Given the description of an element on the screen output the (x, y) to click on. 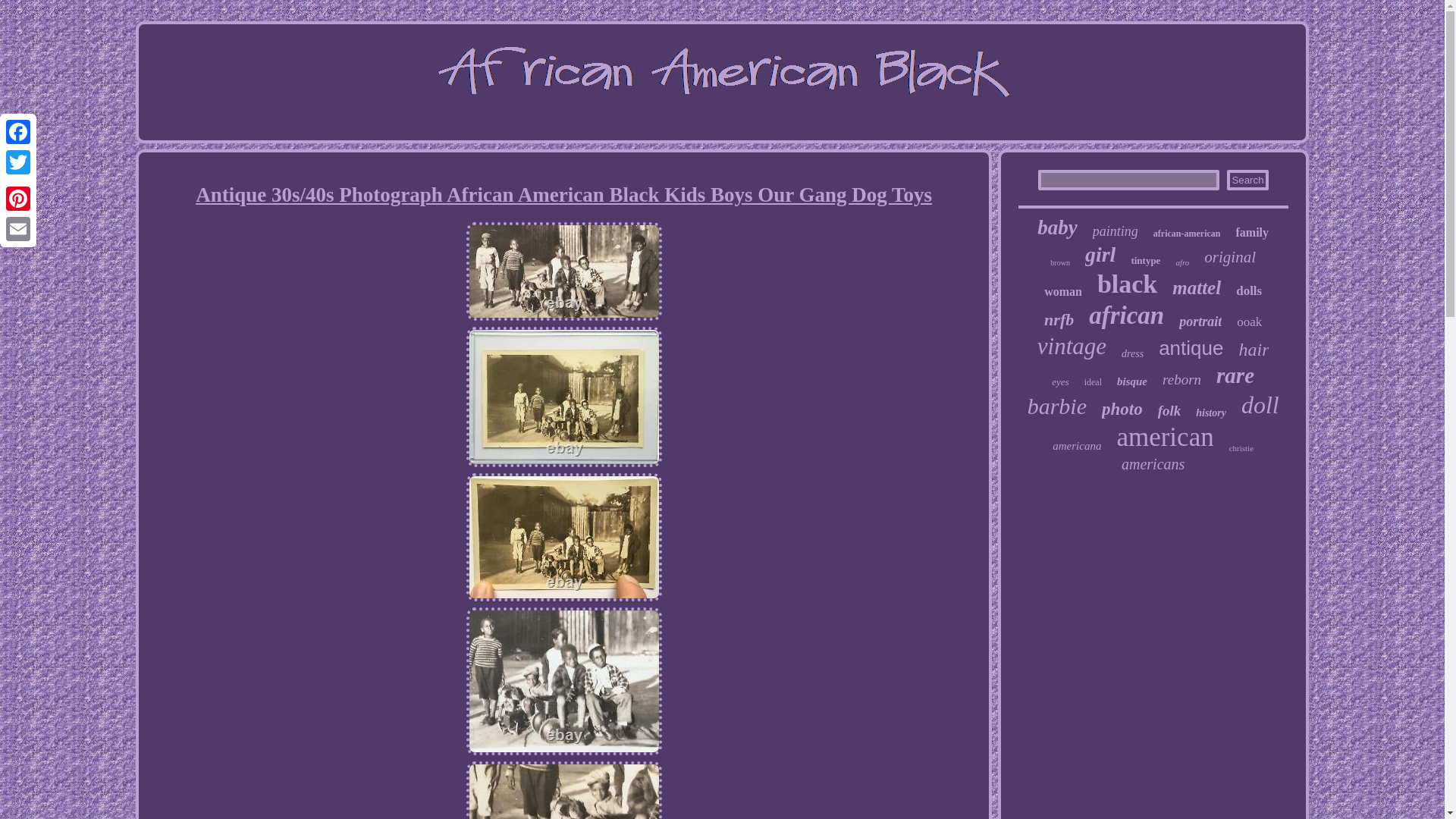
painting (1115, 231)
woman (1062, 291)
family (1251, 232)
brown (1059, 262)
Search (1247, 179)
Email (17, 228)
Facebook (17, 132)
Twitter (17, 162)
african-american (1187, 233)
Pinterest (17, 198)
baby (1056, 227)
nrfb (1058, 320)
black (1127, 284)
mattel (1196, 287)
Search (1247, 179)
